Given the description of an element on the screen output the (x, y) to click on. 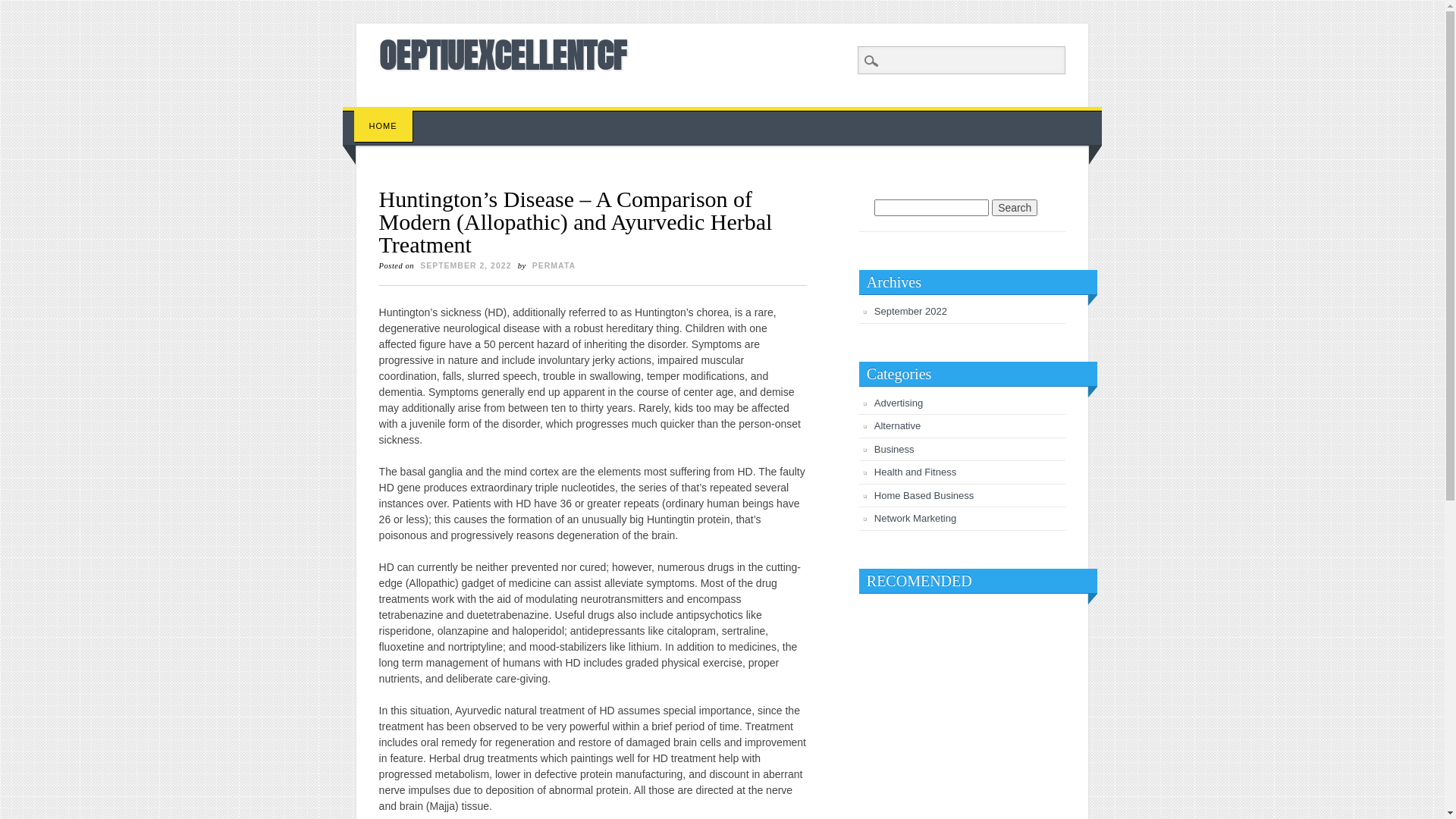
Search Element type: text (1014, 207)
Skip to content Element type: text (377, 114)
Home Based Business Element type: text (924, 495)
SEPTEMBER 2, 2022 Element type: text (465, 264)
Advertising Element type: text (898, 402)
PERMATA Element type: text (553, 264)
OEPTIUEXCELLENTCF Element type: text (502, 55)
Business Element type: text (894, 449)
Health and Fitness Element type: text (915, 471)
Search Element type: text (22, 8)
September 2022 Element type: text (910, 310)
Alternative Element type: text (897, 425)
HOME Element type: text (383, 125)
Network Marketing Element type: text (915, 518)
